Given the description of an element on the screen output the (x, y) to click on. 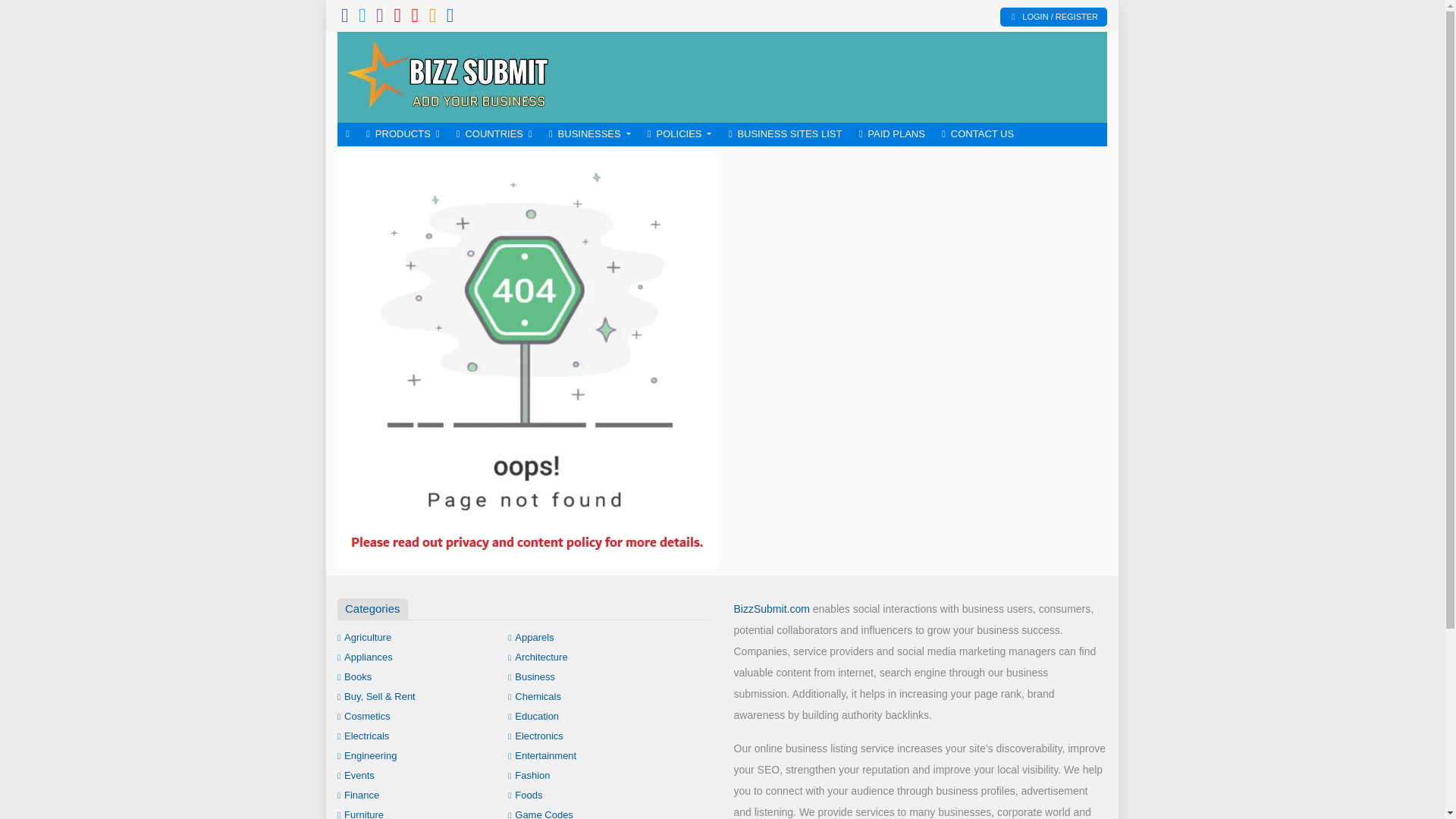
Get New Customers Online by Submitting Business Articles (447, 75)
PRODUCTS (403, 134)
COUNTRIES (494, 134)
